Given the description of an element on the screen output the (x, y) to click on. 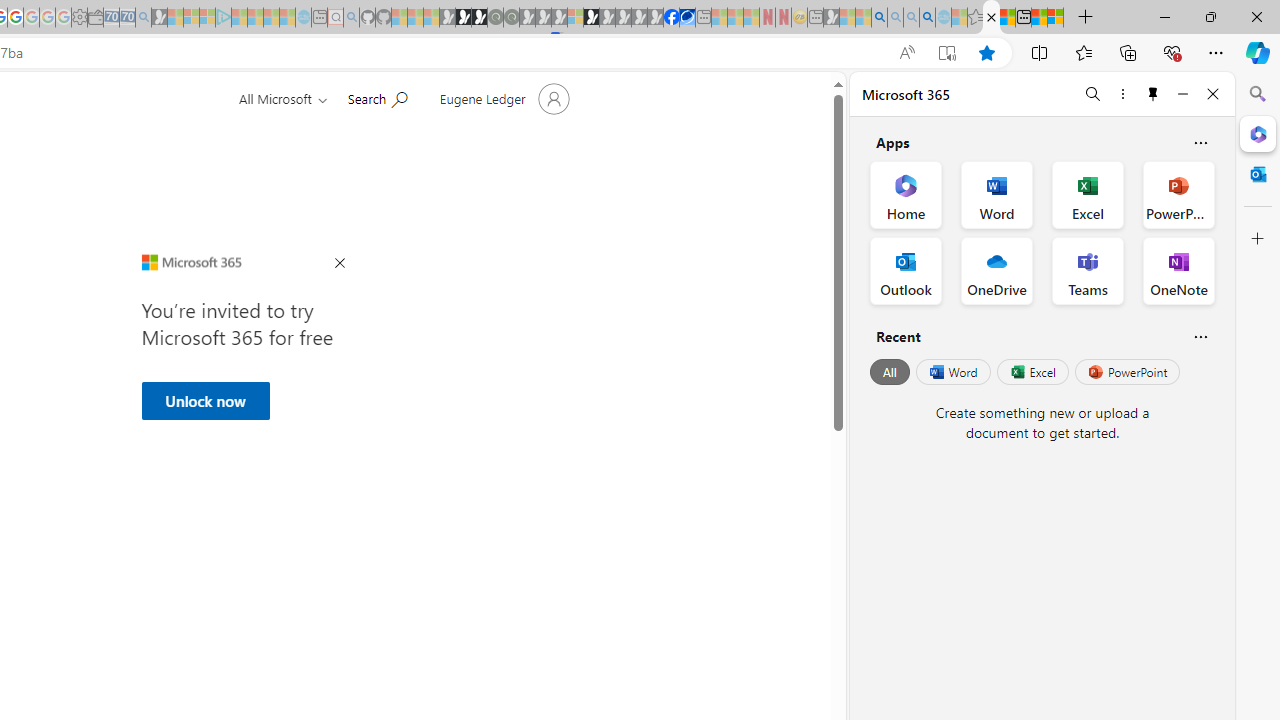
All (890, 372)
Google Chrome Internet Browser Download - Search Images (927, 17)
